Given the description of an element on the screen output the (x, y) to click on. 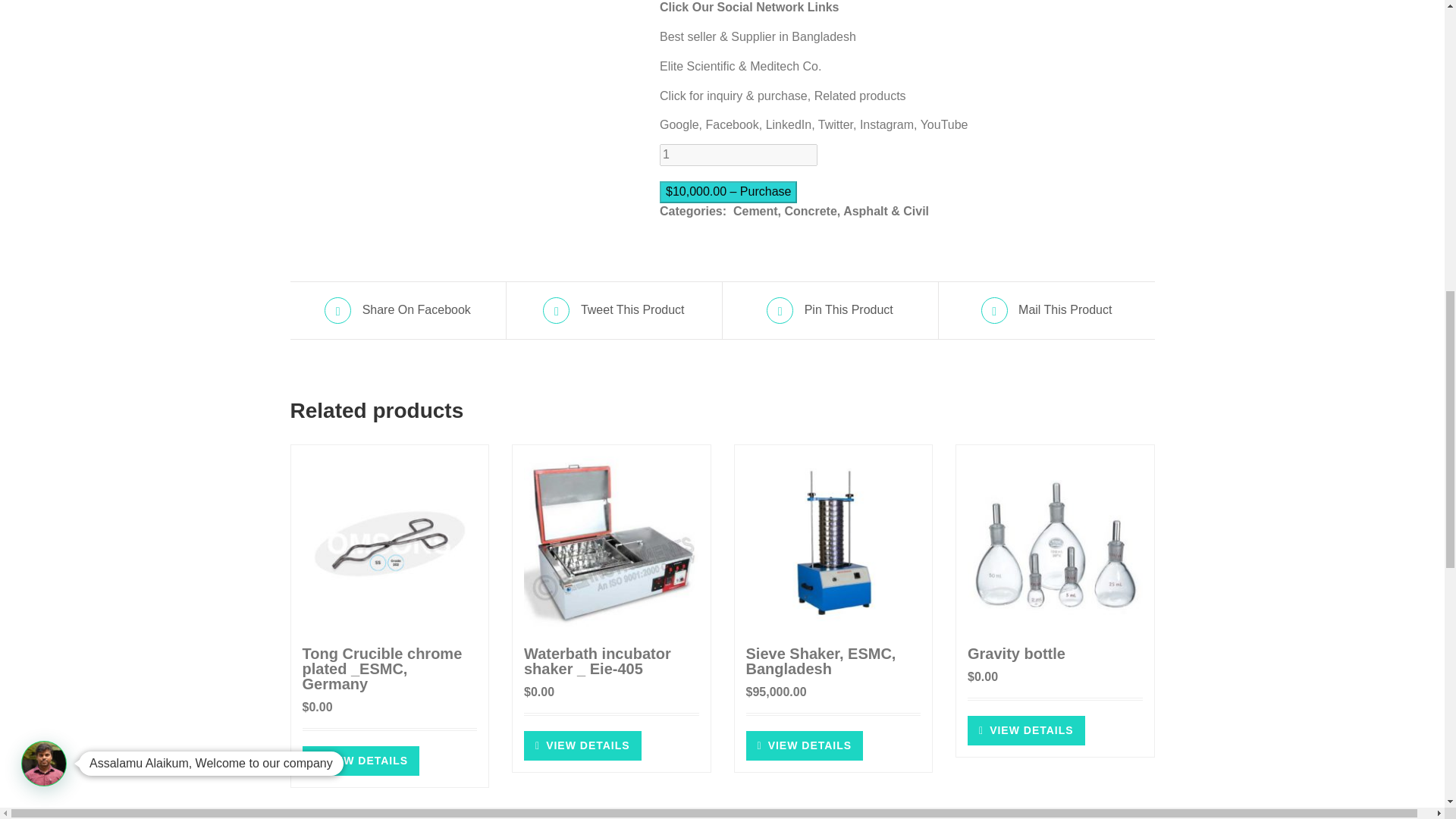
Instagram (887, 124)
Google (678, 124)
1 (737, 155)
Related products (859, 95)
LinkedIn (788, 124)
YouTube (944, 124)
Twitter (835, 124)
Facebook (731, 124)
